Given the description of an element on the screen output the (x, y) to click on. 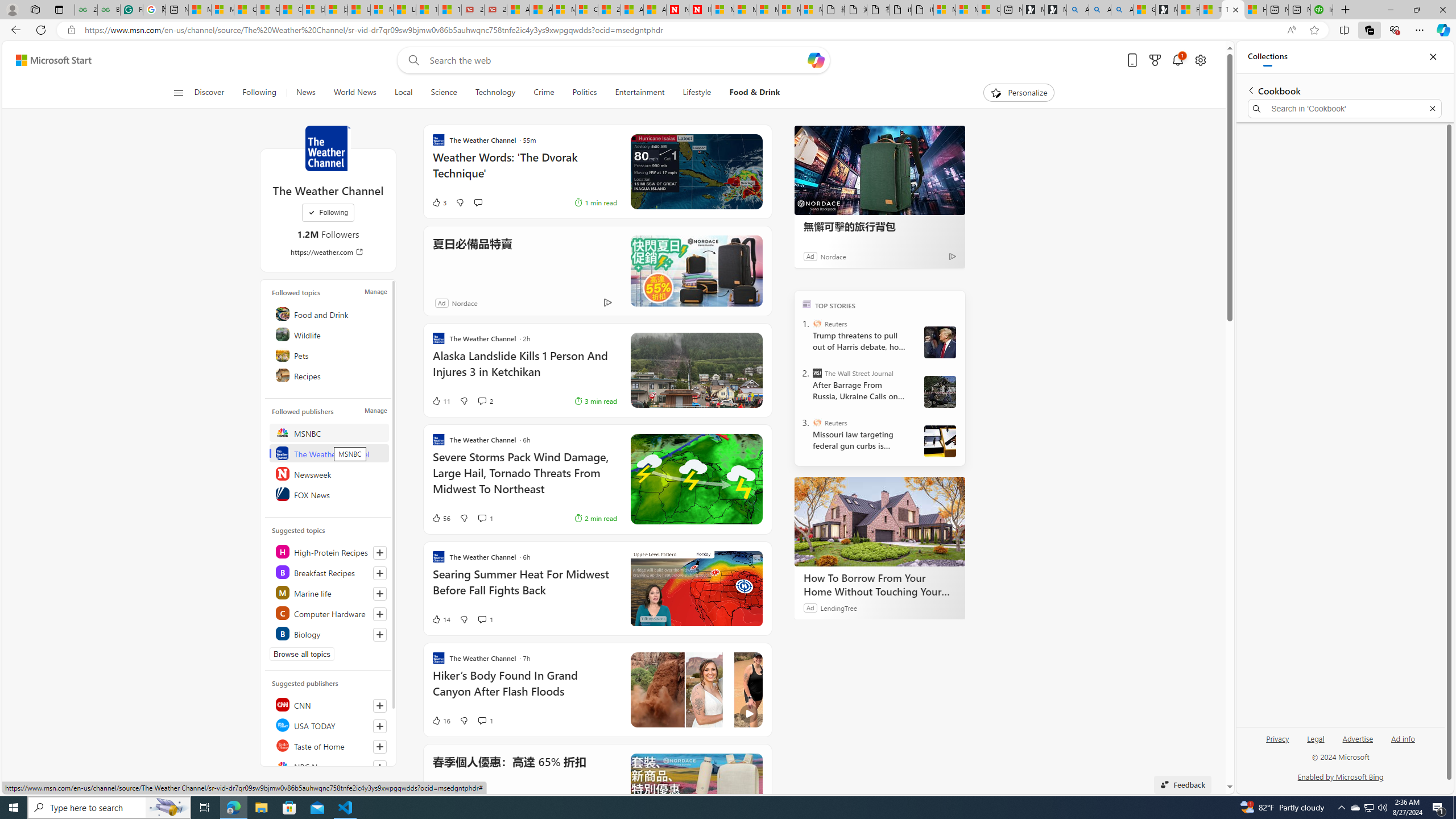
Follow this source (379, 767)
Wildlife (328, 334)
itconcepthk.com/projector_solutions.mp4 (923, 9)
